Given the description of an element on the screen output the (x, y) to click on. 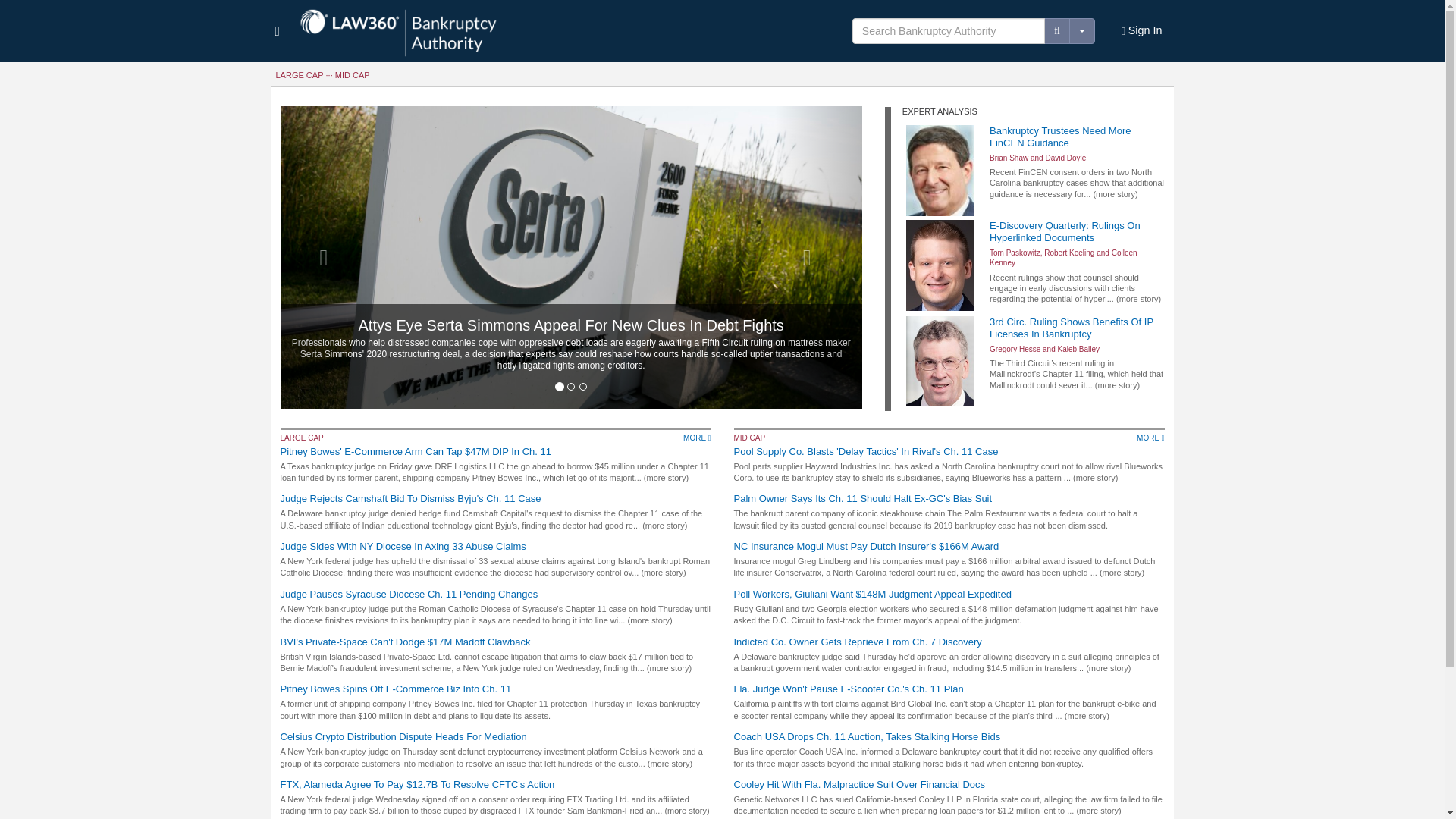
MID CAP (351, 74)
Bankruptcy Trustees Need More FinCEN Guidance (1076, 137)
Attys Eye Serta Simmons Appeal For New Clues In Debt Fights (570, 324)
Attys Eye Serta Simmons Appeal For New Clues In Debt Fights (570, 324)
GO (13, 7)
  Sign In (1141, 31)
LARGE CAP (299, 74)
Toggle Dropdown (1081, 31)
Search Button (1056, 31)
